Given the description of an element on the screen output the (x, y) to click on. 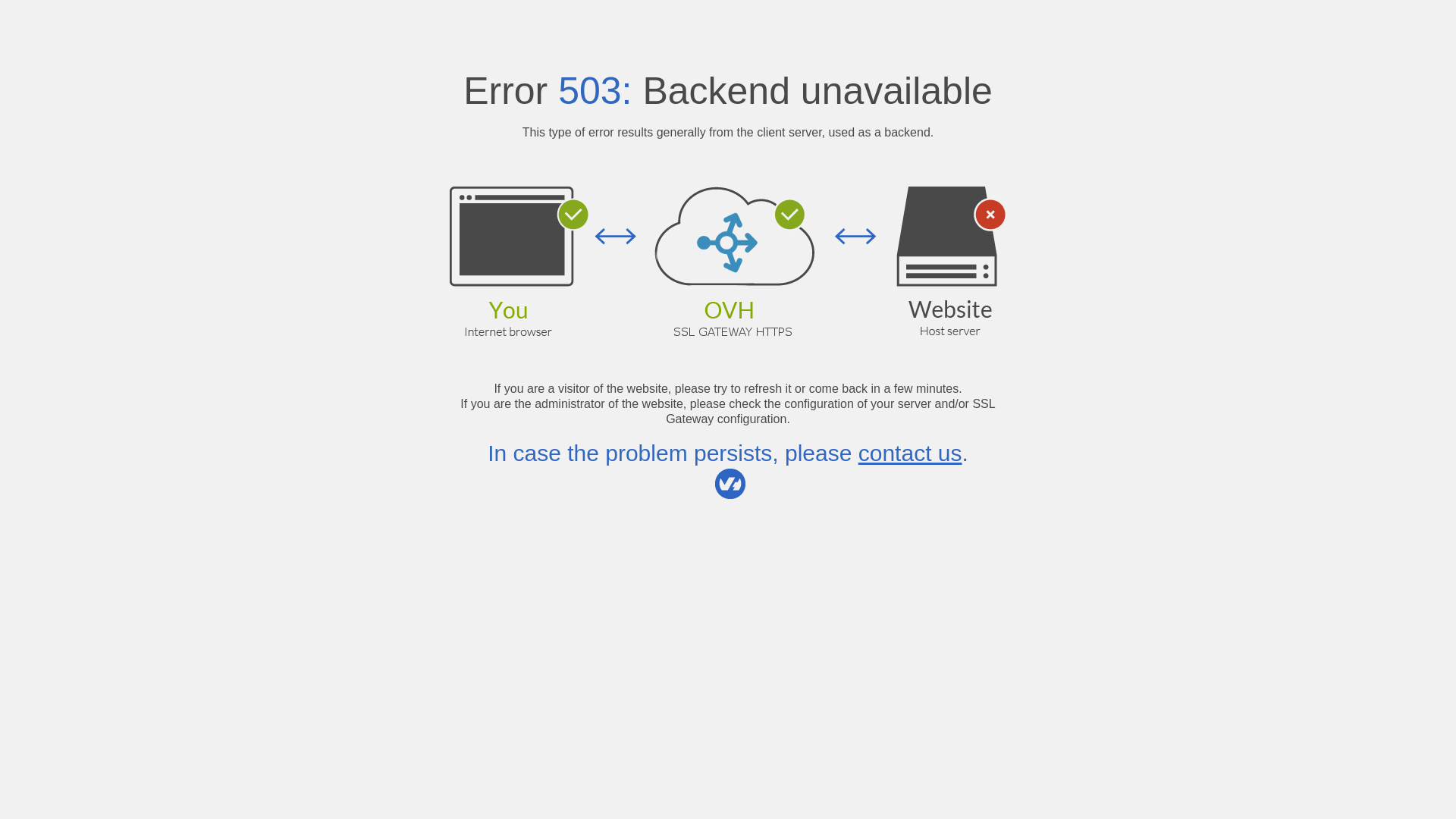
contact us Element type: text (910, 452)
